Given the description of an element on the screen output the (x, y) to click on. 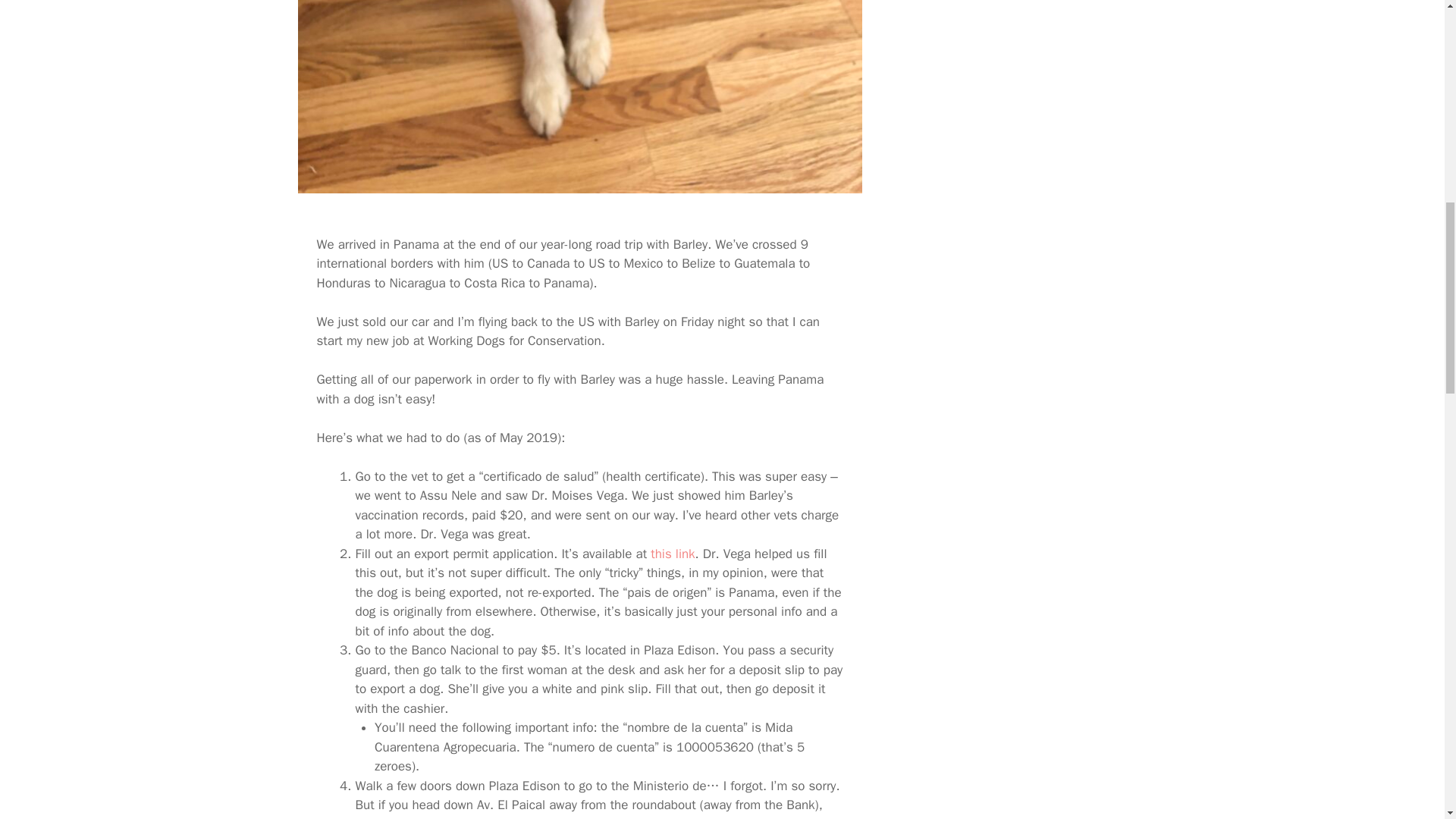
this link (672, 553)
